Given the description of an element on the screen output the (x, y) to click on. 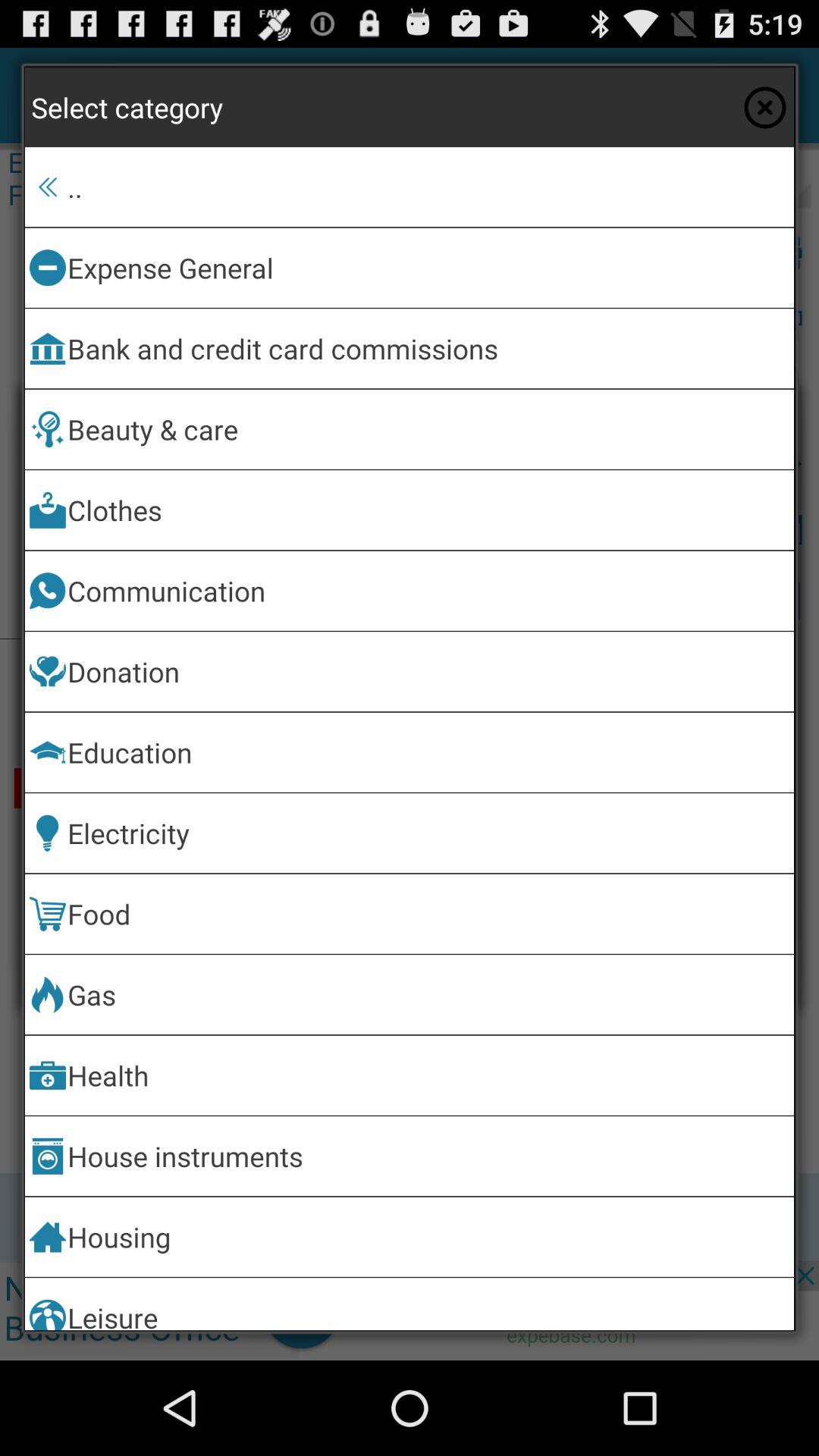
turn on the clothes (427, 509)
